Given the description of an element on the screen output the (x, y) to click on. 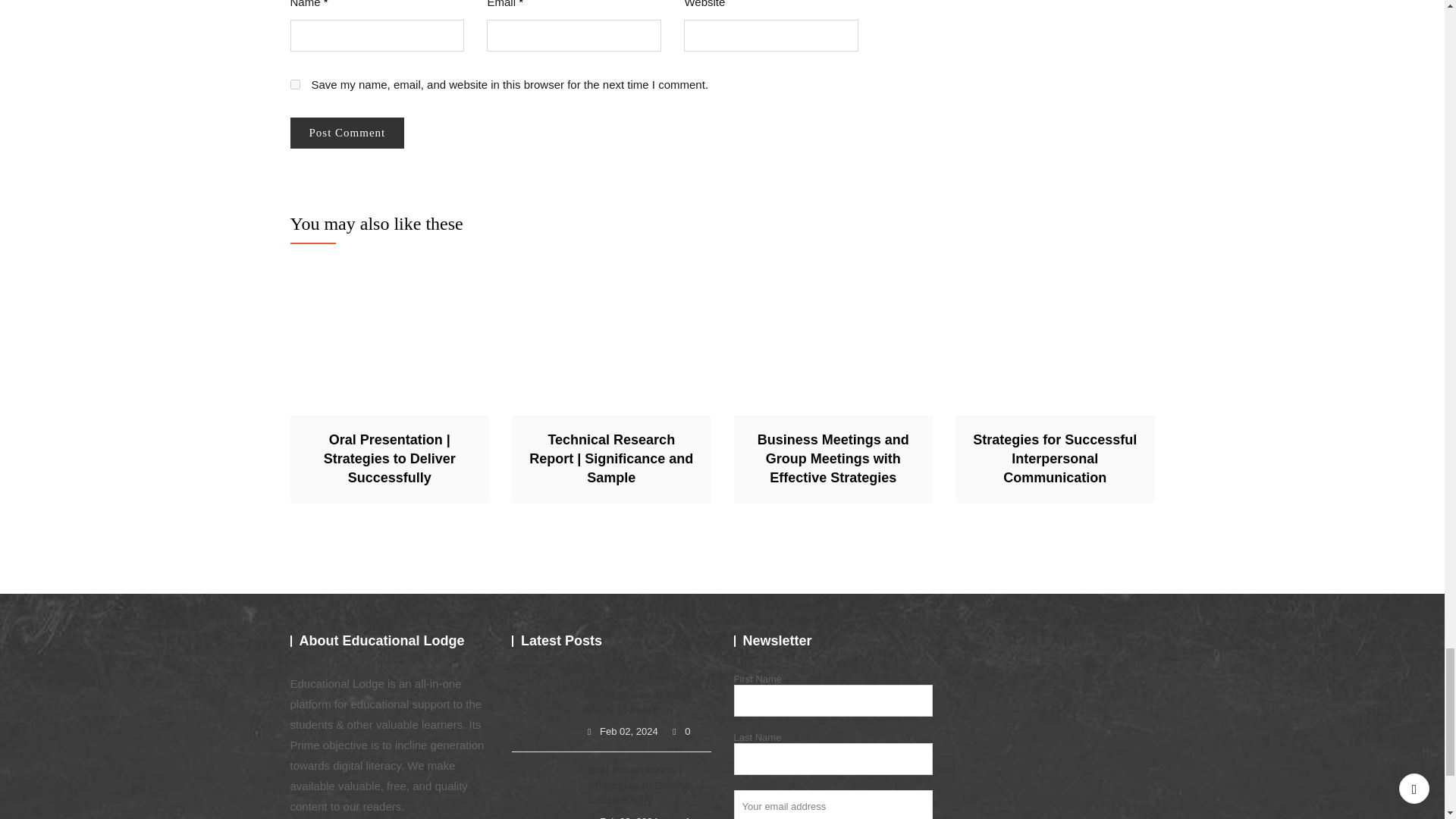
Post Comment (346, 132)
Strategies for Successful Interpersonal Communication (1054, 343)
yes (294, 84)
